Given the description of an element on the screen output the (x, y) to click on. 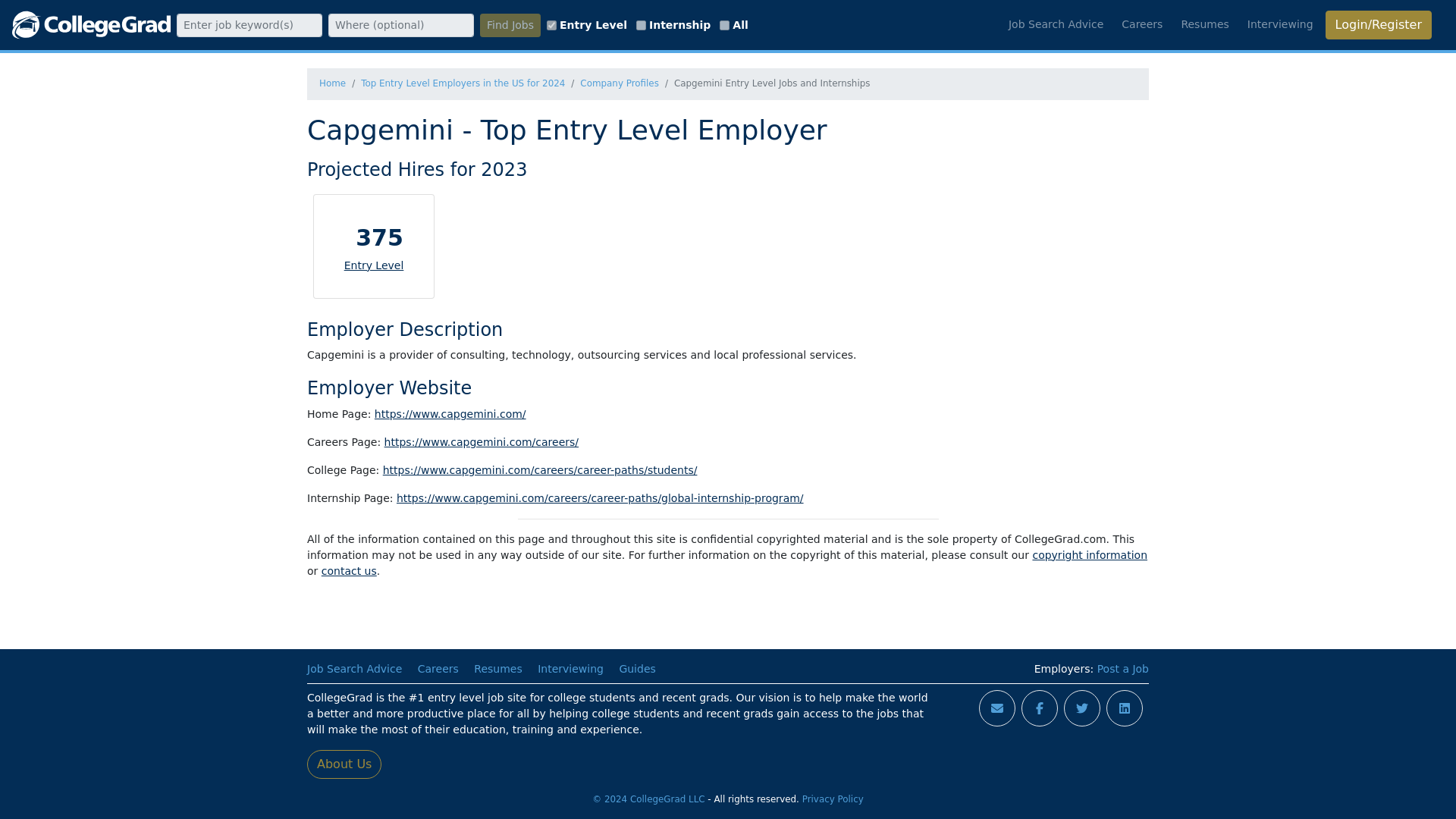
contact us (349, 571)
Interviewing (570, 668)
4 (724, 24)
2 (641, 24)
Entry Level (373, 265)
Post a Job (1122, 668)
1 (551, 24)
Job Search Advice (354, 668)
Resumes (1204, 24)
Job Search Advice (1056, 24)
